Given the description of an element on the screen output the (x, y) to click on. 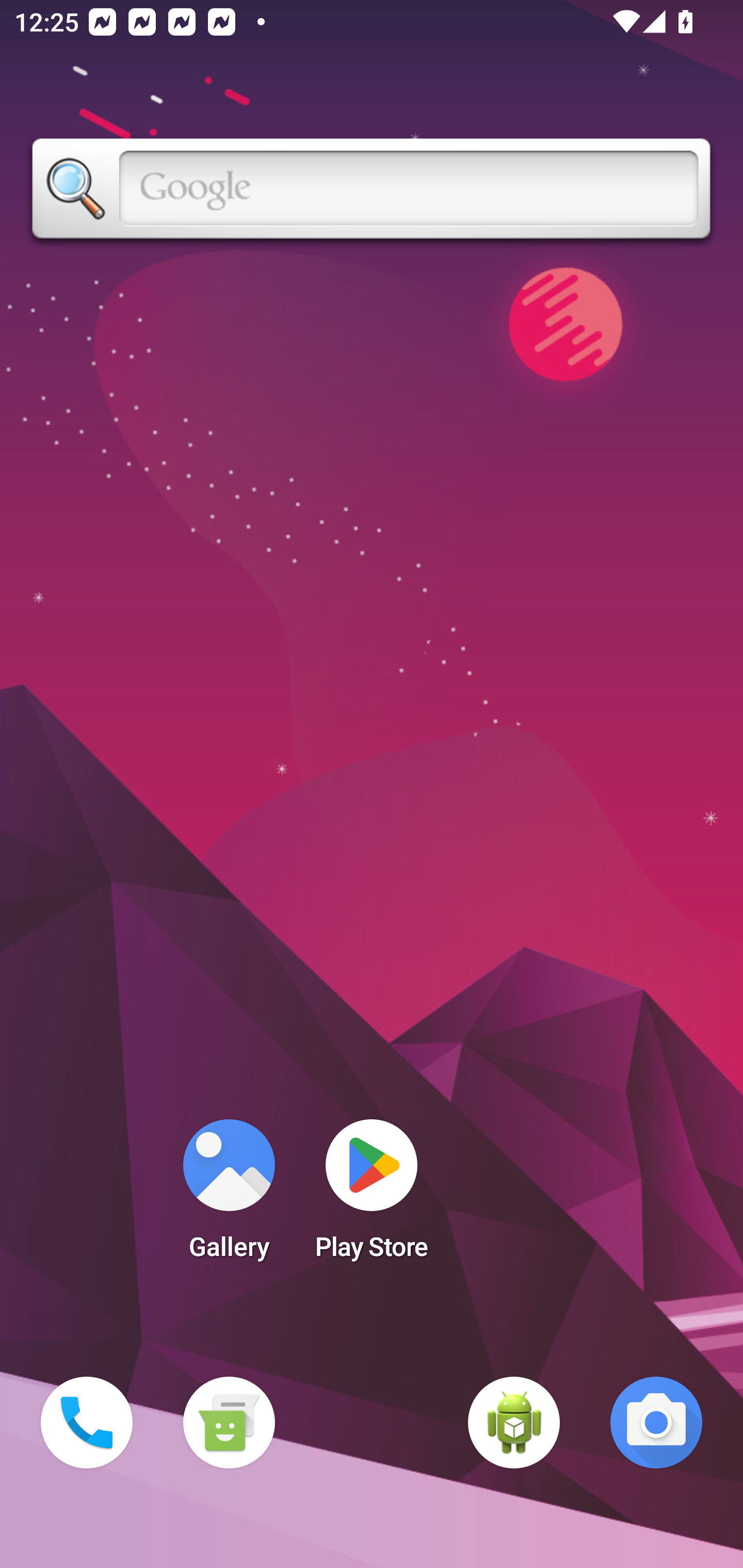
Gallery (228, 1195)
Play Store (371, 1195)
Phone (86, 1422)
Messaging (228, 1422)
WebView Browser Tester (513, 1422)
Camera (656, 1422)
